Given the description of an element on the screen output the (x, y) to click on. 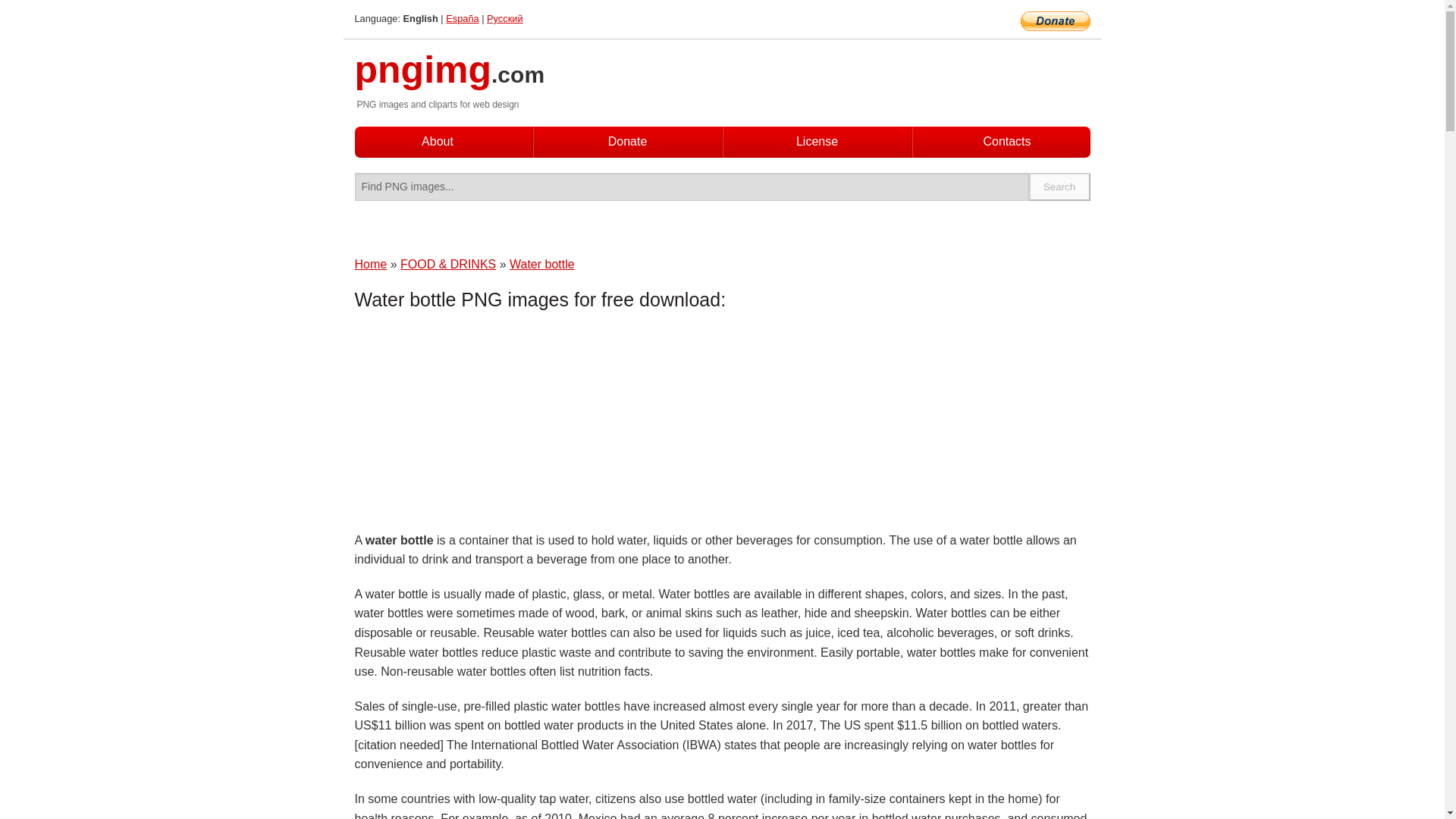
Search (1059, 186)
pngimg.com (449, 78)
Home (371, 264)
Search (1059, 186)
License (817, 141)
About (437, 141)
Contacts (1006, 141)
Donate (627, 141)
Water bottle (542, 264)
